Given the description of an element on the screen output the (x, y) to click on. 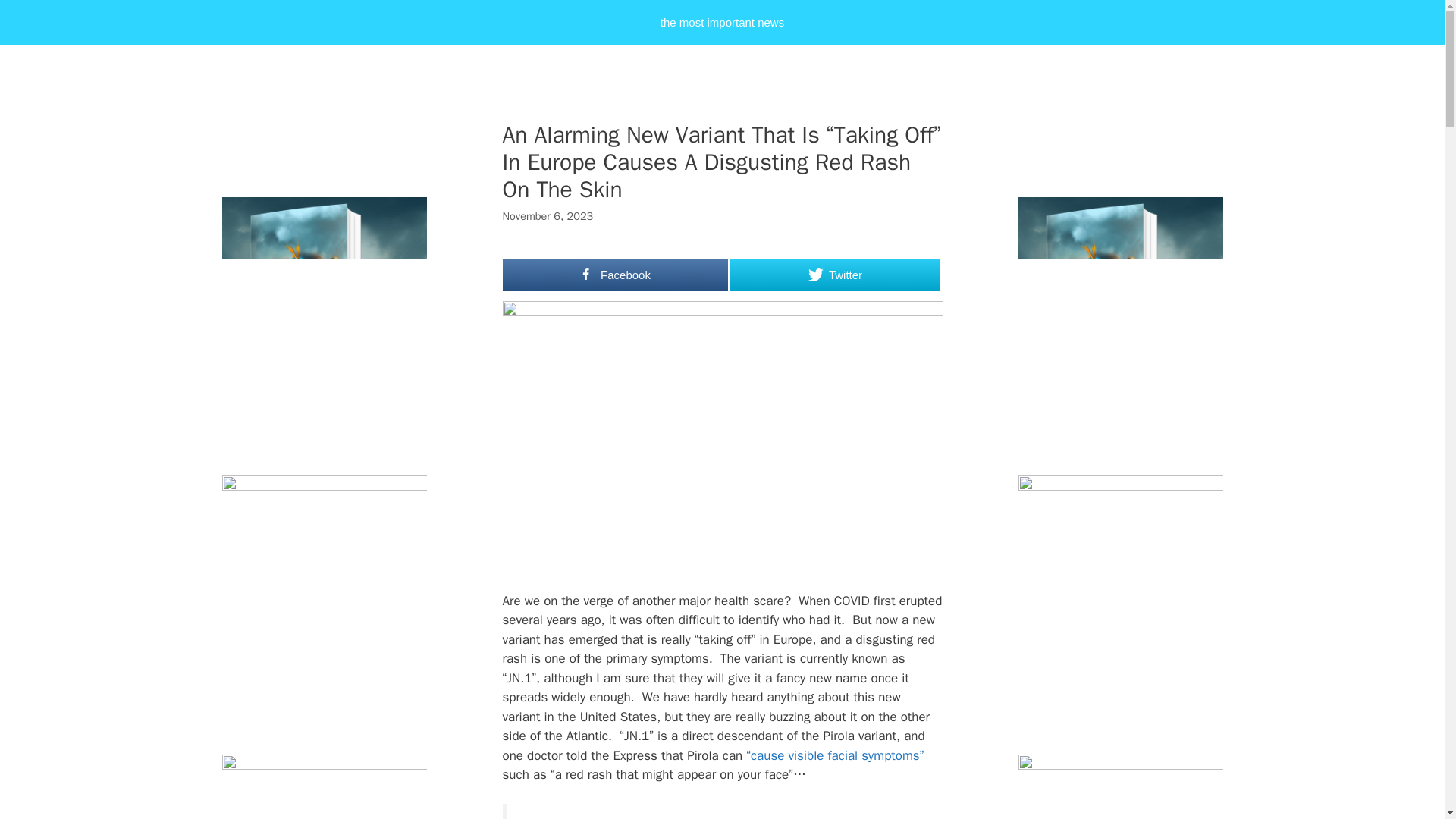
Twitter (834, 274)
the most important news (722, 22)
Facebook (615, 274)
the most important news (722, 22)
Twitter (834, 274)
Facebook (615, 274)
